Given the description of an element on the screen output the (x, y) to click on. 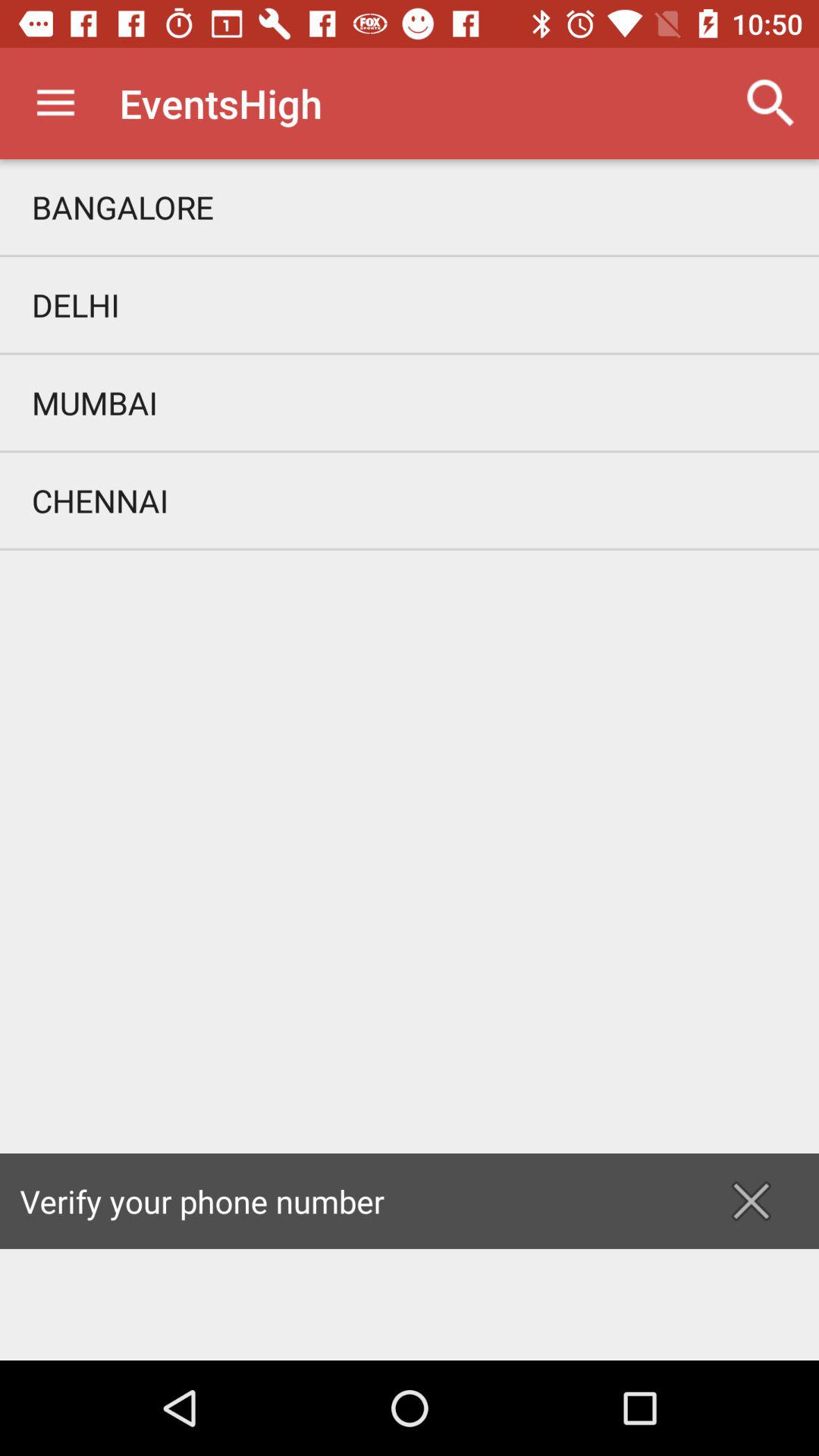
swipe until the mumbai icon (409, 402)
